Given the description of an element on the screen output the (x, y) to click on. 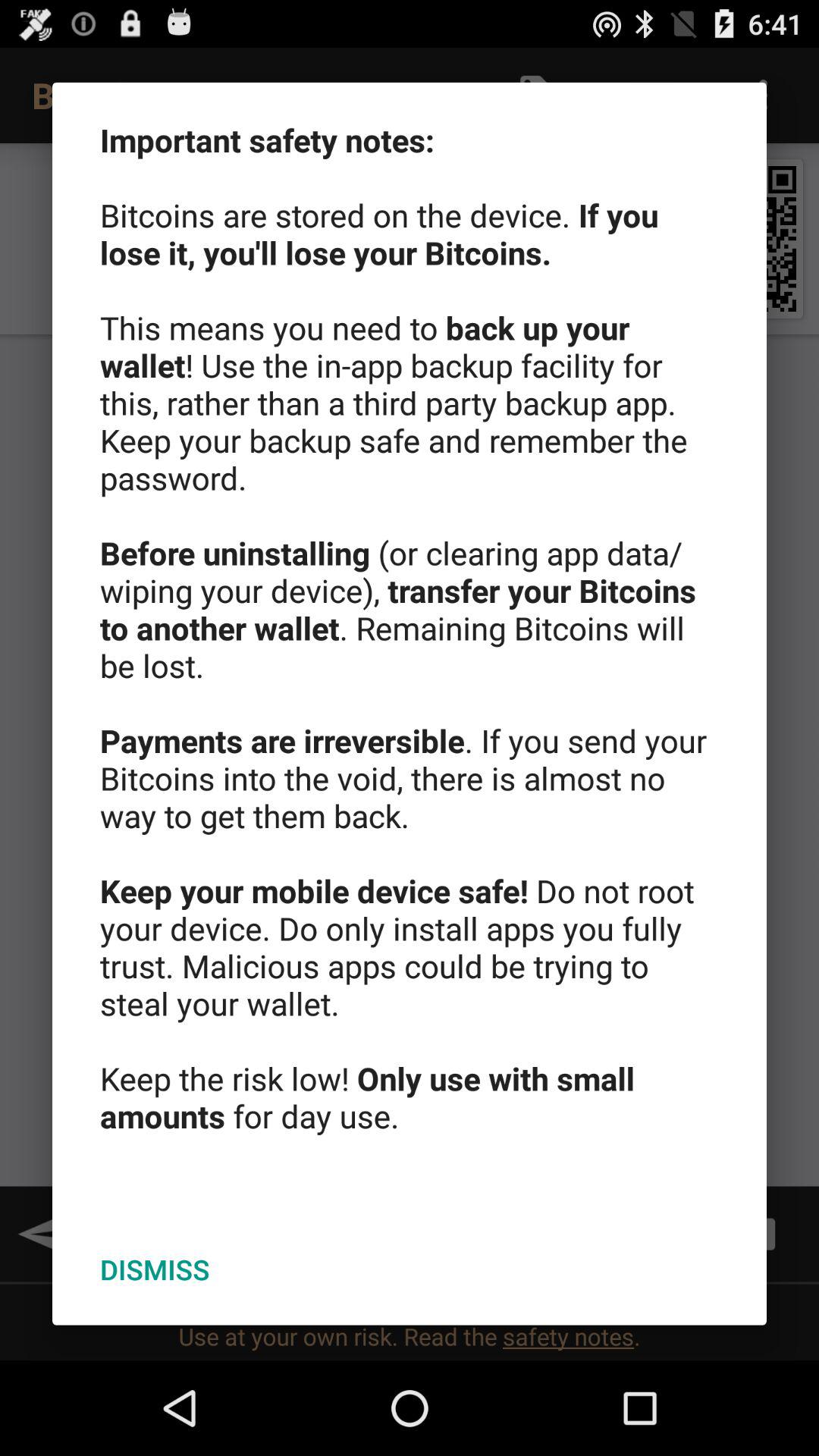
launch item at the bottom left corner (154, 1269)
